Given the description of an element on the screen output the (x, y) to click on. 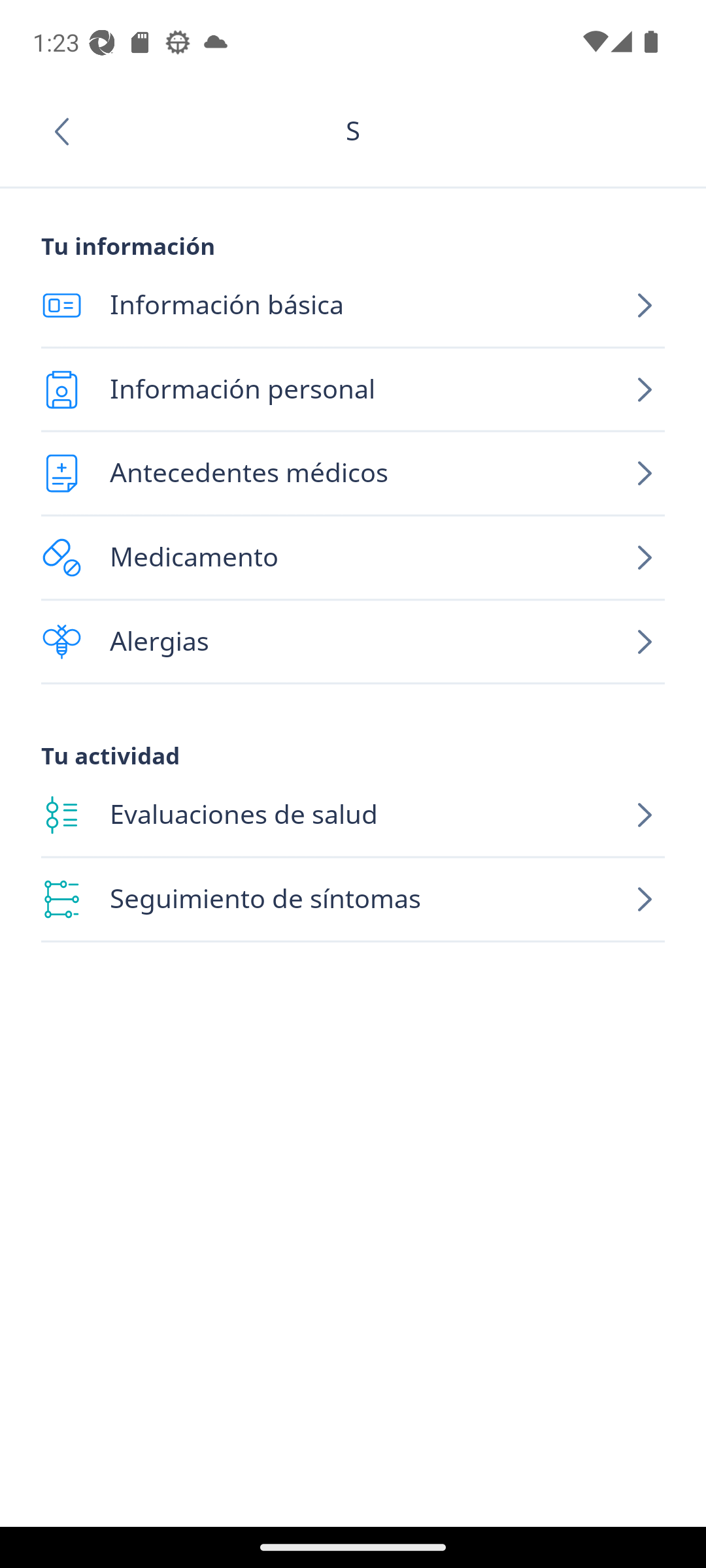
Go back, Navigates to the previous screen (68, 131)
Información básica (352, 305)
Información personal (352, 389)
Antecedentes médicos (352, 473)
Medicamento (352, 557)
Alergias (352, 641)
Evaluaciones de salud (352, 815)
Seguimiento de síntomas (352, 899)
